Given the description of an element on the screen output the (x, y) to click on. 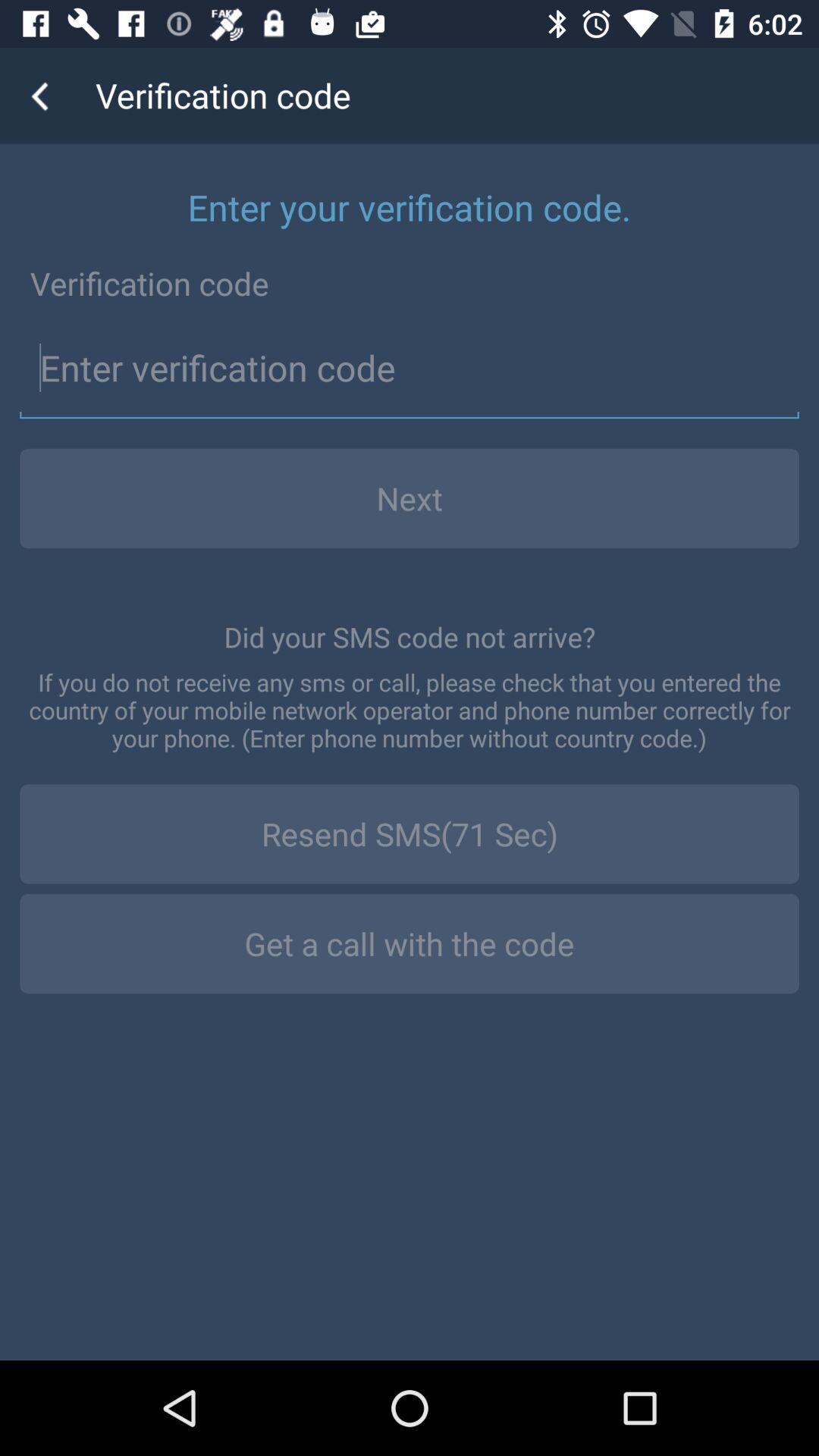
enter verification code (409, 368)
